Given the description of an element on the screen output the (x, y) to click on. 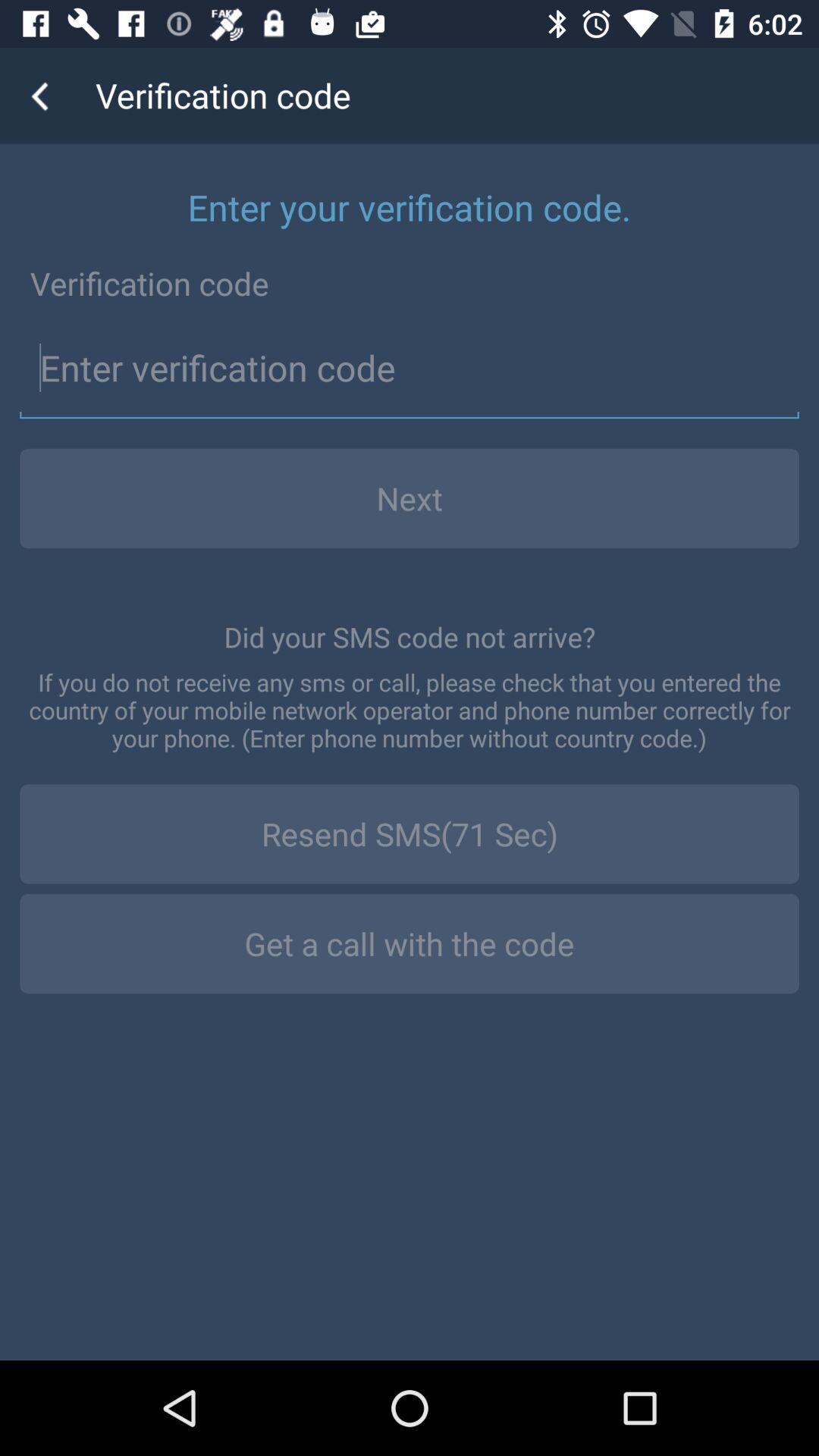
enter verification code (409, 368)
